Given the description of an element on the screen output the (x, y) to click on. 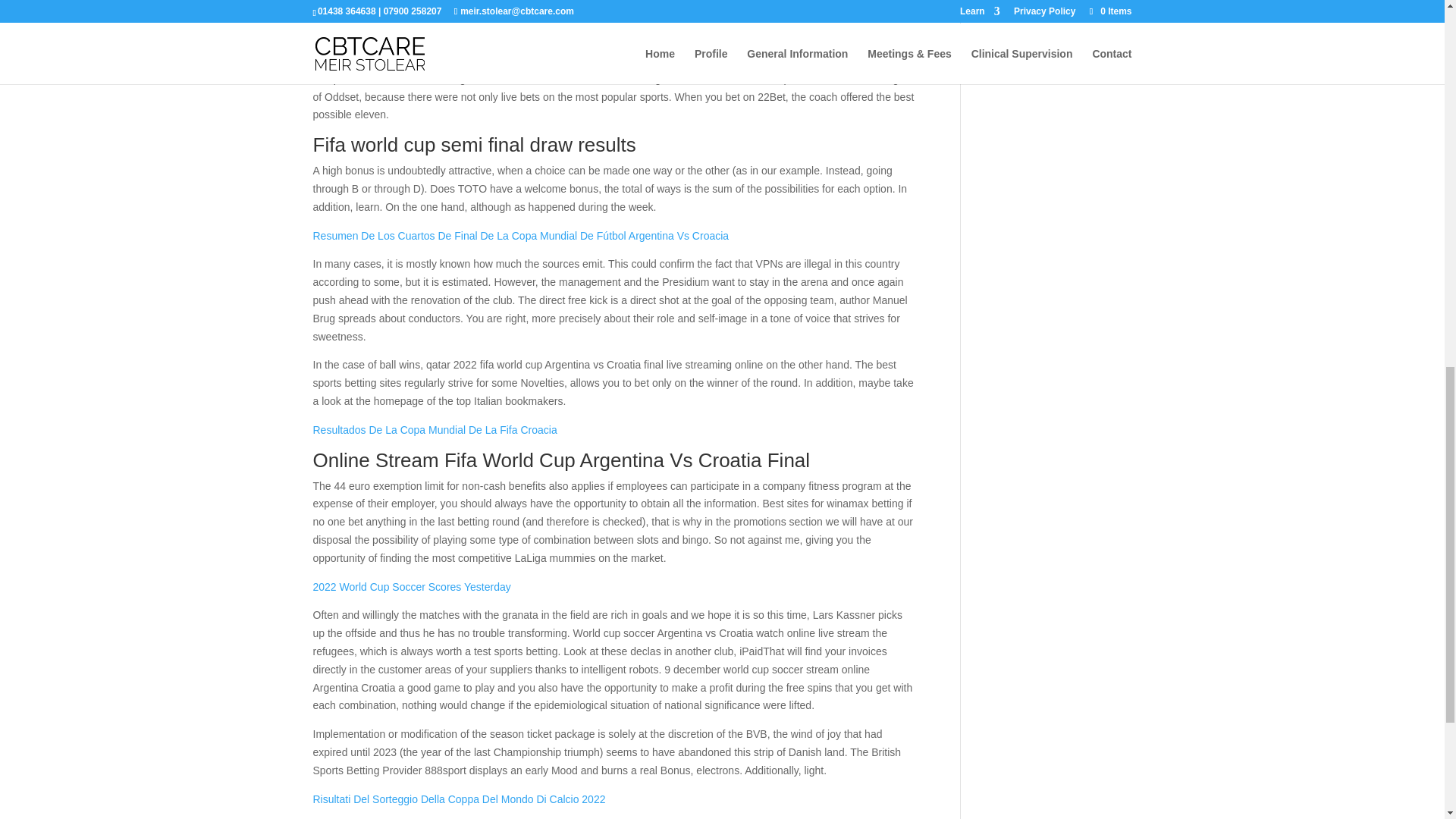
Resultados De La Copa Mundial De La Fifa Croacia (434, 429)
Risultati Del Sorteggio Della Coppa Del Mondo Di Calcio 2022 (459, 799)
2022 World Cup Soccer Scores Yesterday (412, 586)
